Given the description of an element on the screen output the (x, y) to click on. 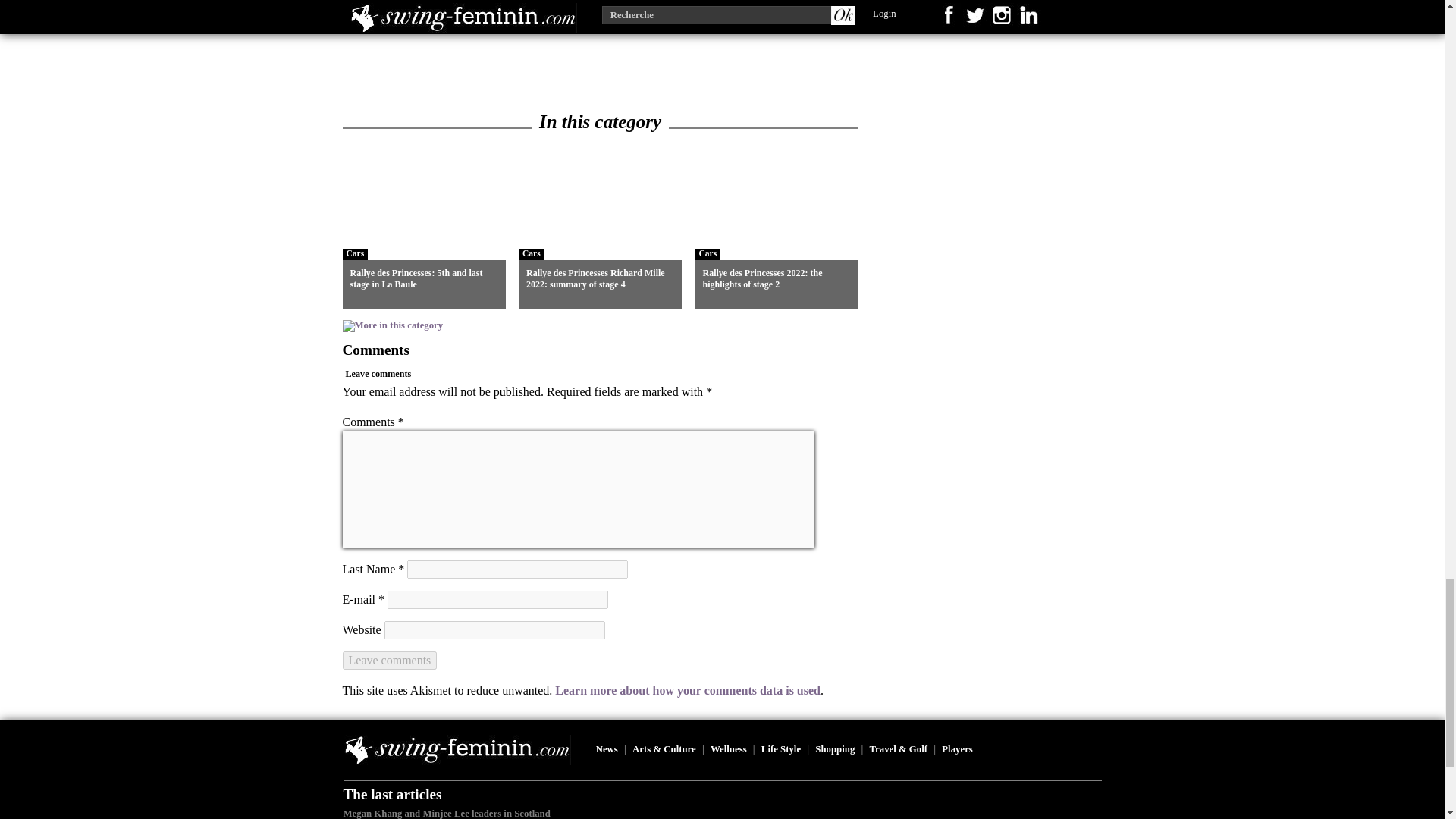
Leave comments (390, 660)
